Given the description of an element on the screen output the (x, y) to click on. 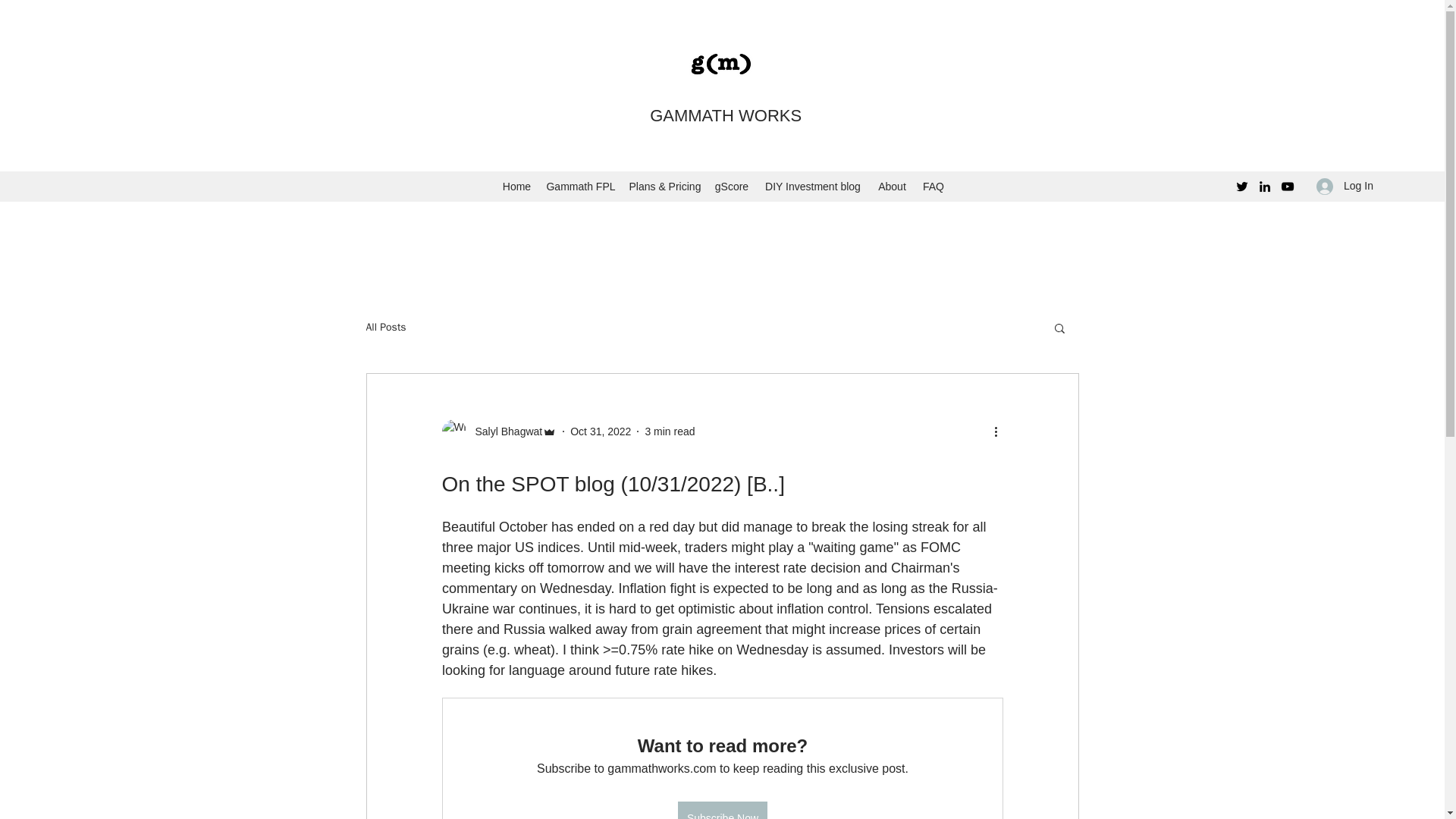
Subscribe Now (722, 810)
DIY Investment blog (812, 186)
Salyl Bhagwat (503, 431)
About (891, 186)
All Posts (385, 327)
Log In (1345, 185)
Home (516, 186)
Oct 31, 2022 (600, 431)
Gammath FPL (579, 186)
Salyl Bhagwat (498, 431)
gScore (730, 186)
GAMMATH WORKS (725, 115)
3 min read (669, 431)
FAQ (933, 186)
